Given the description of an element on the screen output the (x, y) to click on. 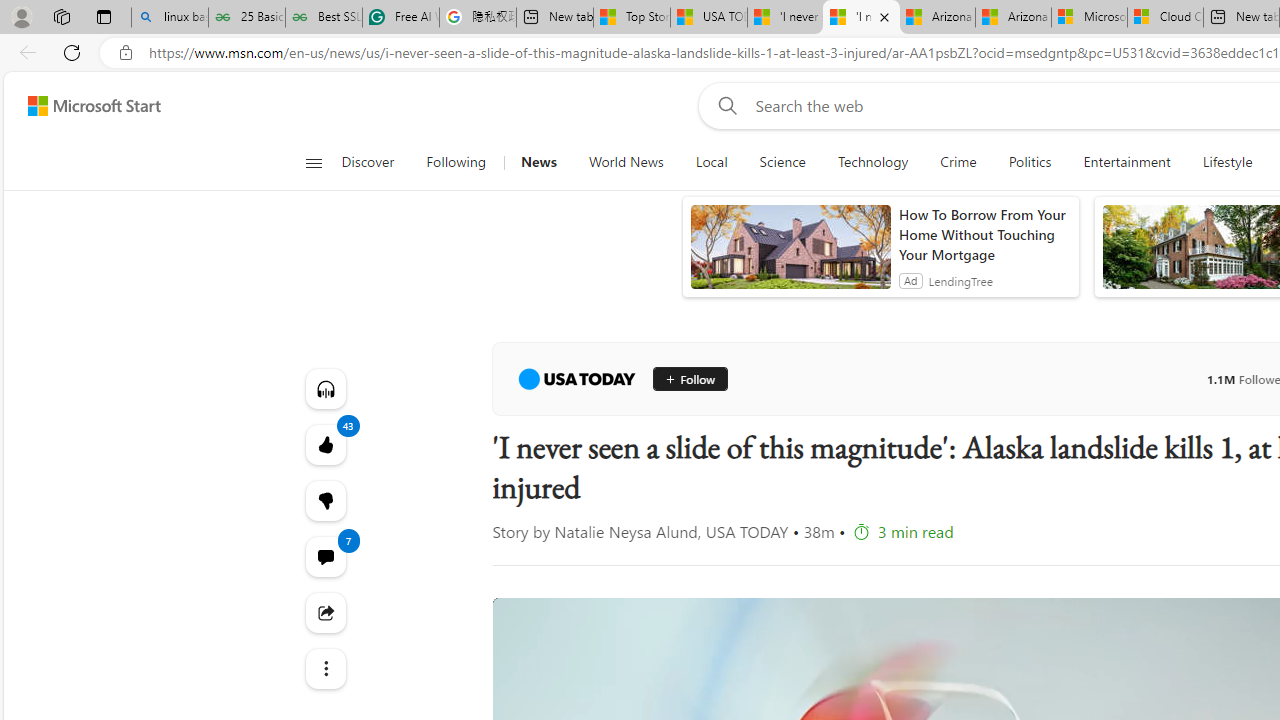
Share this story (324, 612)
USA TODAY (576, 378)
View comments 7 Comment (324, 556)
43 Like (324, 444)
Class: at-item (324, 668)
Entertainment (1126, 162)
Free AI Writing Assistance for Students | Grammarly (401, 17)
